Given the description of an element on the screen output the (x, y) to click on. 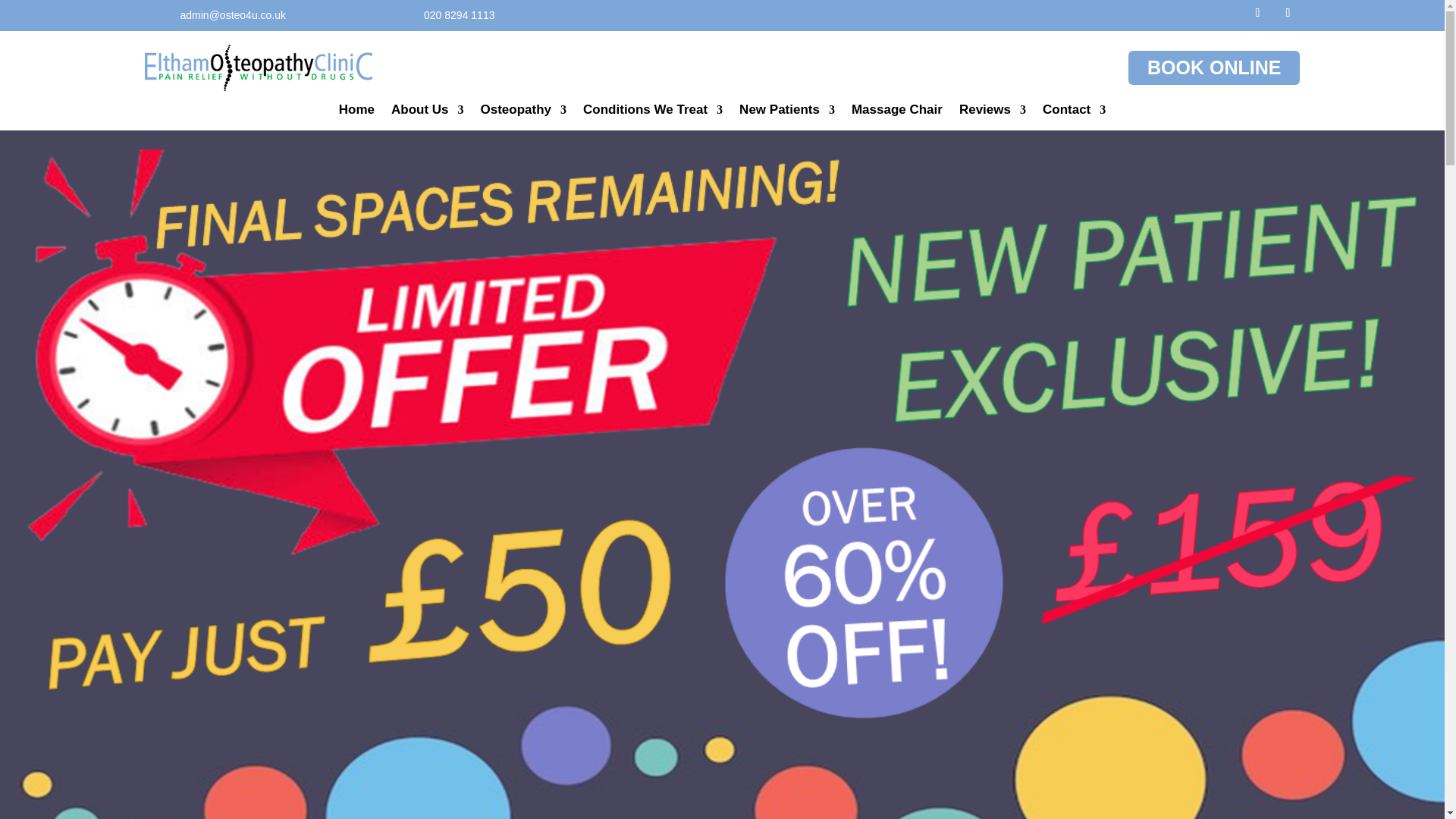
Logo (257, 67)
New Patients (786, 112)
Conditions We Treat (652, 112)
Massage Chair (896, 112)
Follow on Facebook (1256, 12)
BOOK ONLINE (1214, 67)
Osteopathy (523, 112)
Reviews (992, 112)
Contact (1073, 112)
Home (356, 112)
